Given the description of an element on the screen output the (x, y) to click on. 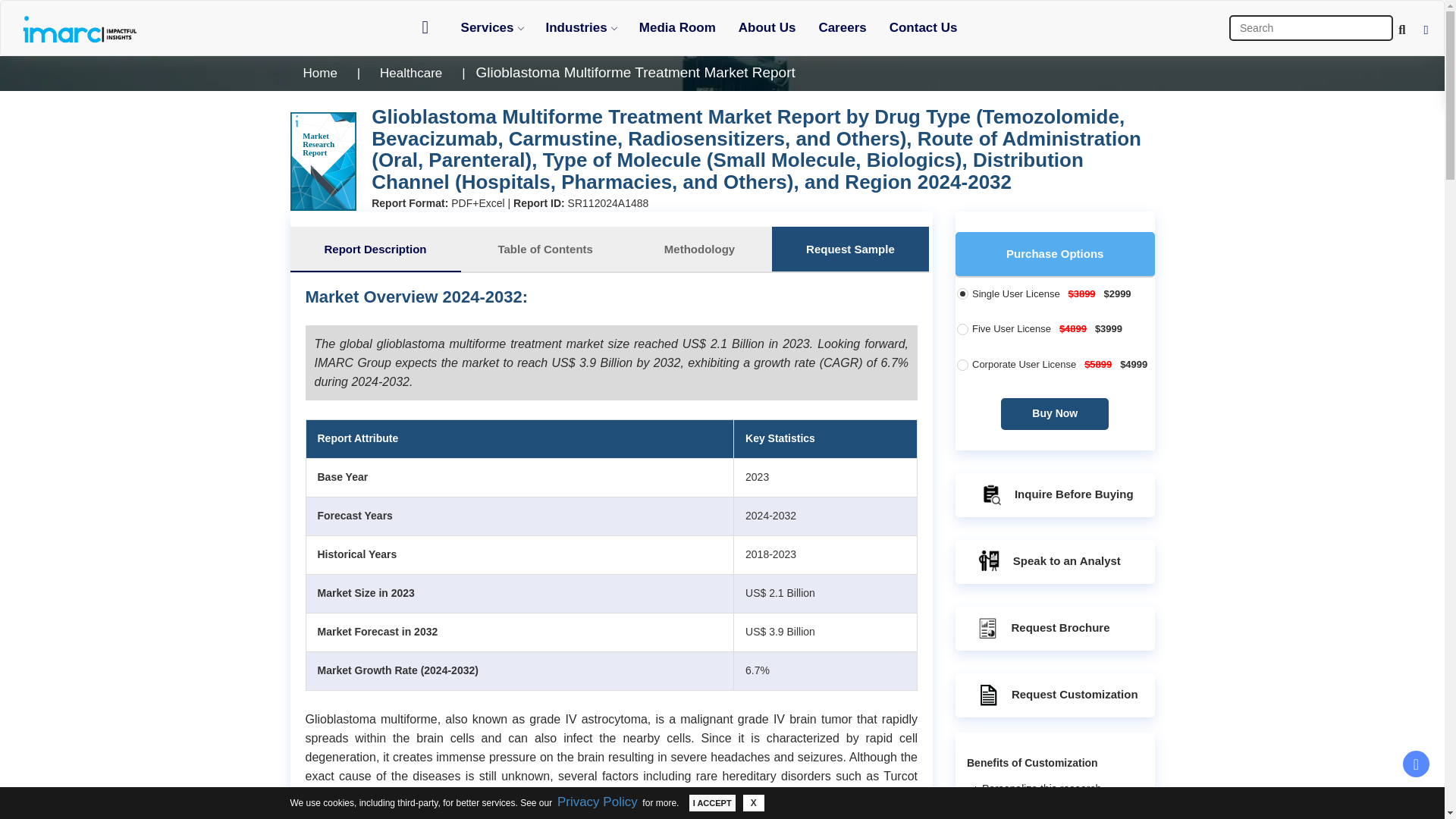
Contact Us (923, 27)
Careers (841, 27)
About Us (767, 27)
Services (491, 27)
Media Room (676, 27)
Industries (580, 27)
